Given the description of an element on the screen output the (x, y) to click on. 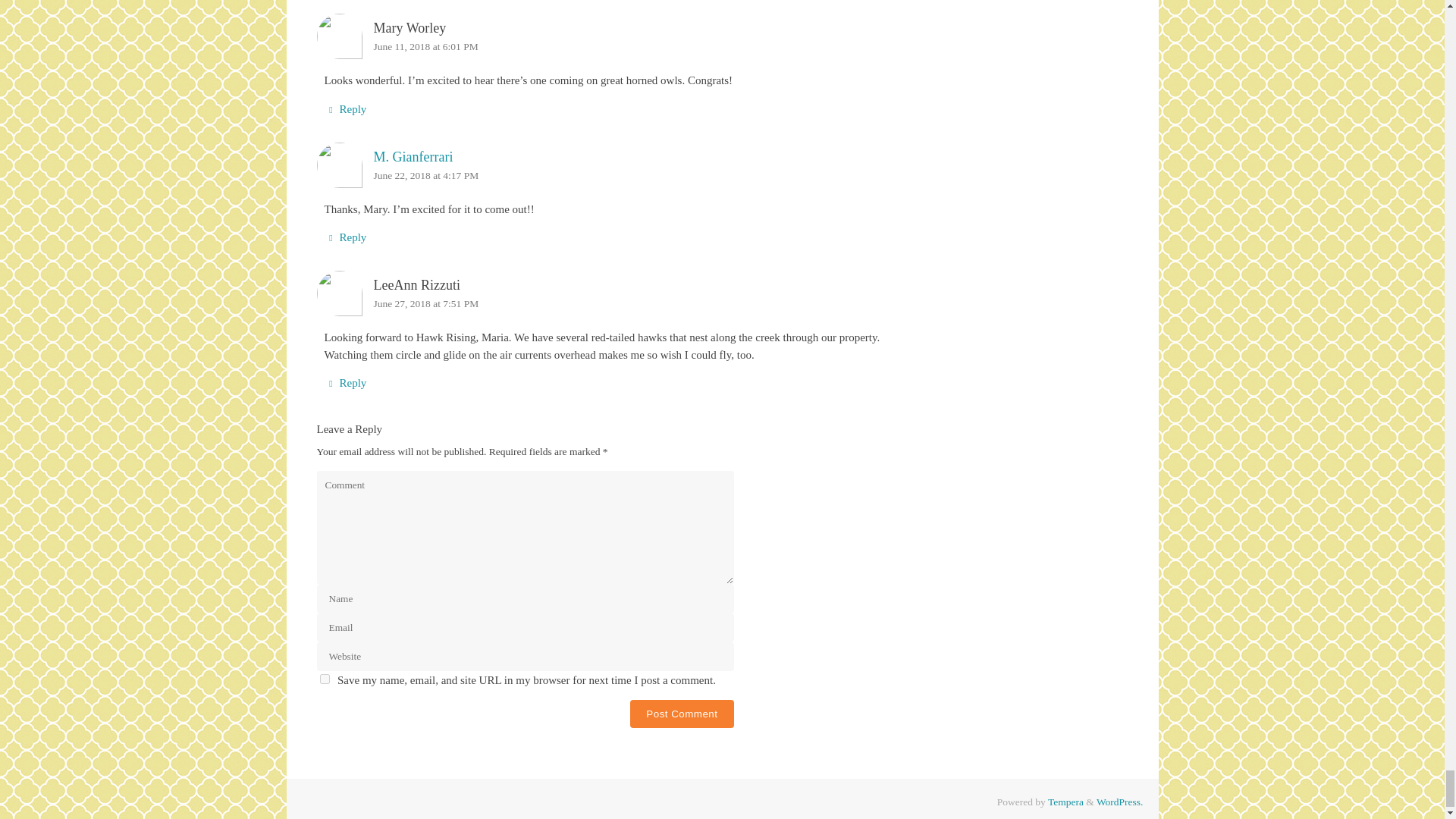
yes (325, 678)
Post Comment (681, 714)
Tempera Theme by Cryout Creations (1065, 801)
